Given the description of an element on the screen output the (x, y) to click on. 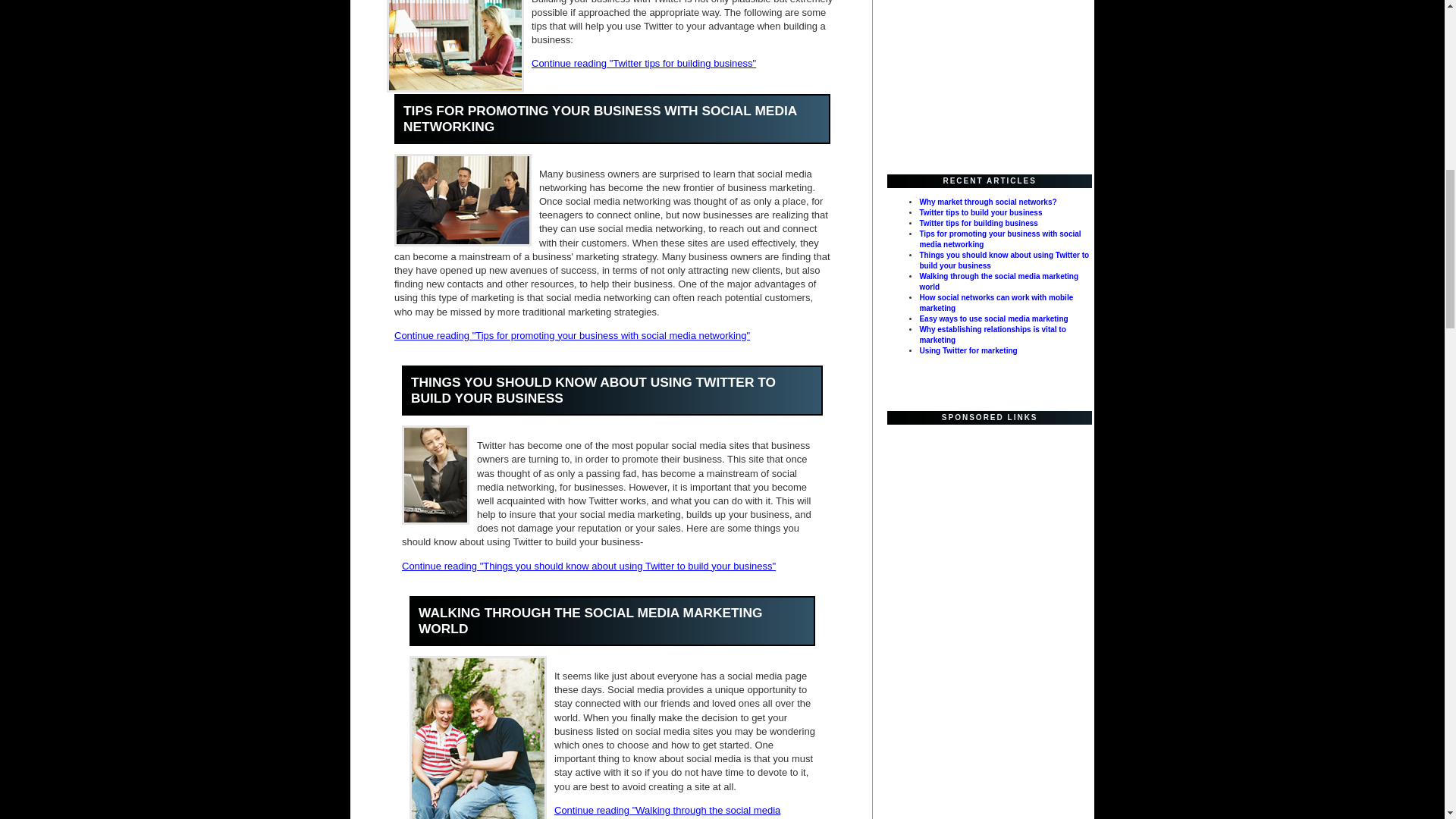
WALKING THROUGH THE SOCIAL MEDIA MARKETING WORLD (590, 620)
Continue reading "Twitter tips for building business" (643, 62)
Advertisement (983, 82)
